Given the description of an element on the screen output the (x, y) to click on. 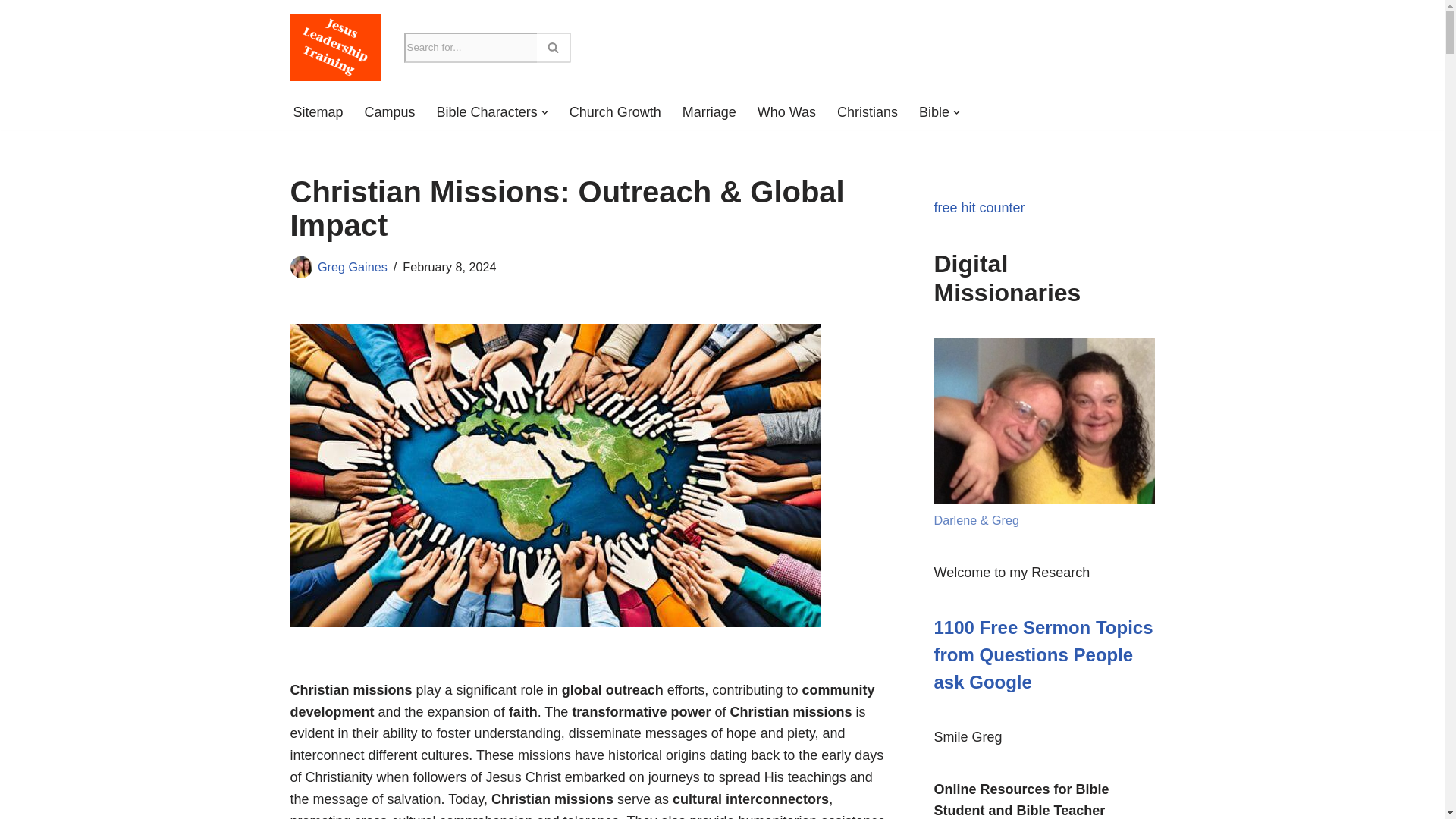
Who Was (786, 111)
Church Growth (615, 111)
Bible (933, 111)
Campus (389, 111)
Posts by Greg Gaines (352, 266)
Skip to content (11, 31)
Marriage (709, 111)
Bible Characters (486, 111)
Sitemap (317, 111)
Christians (867, 111)
